Given the description of an element on the screen output the (x, y) to click on. 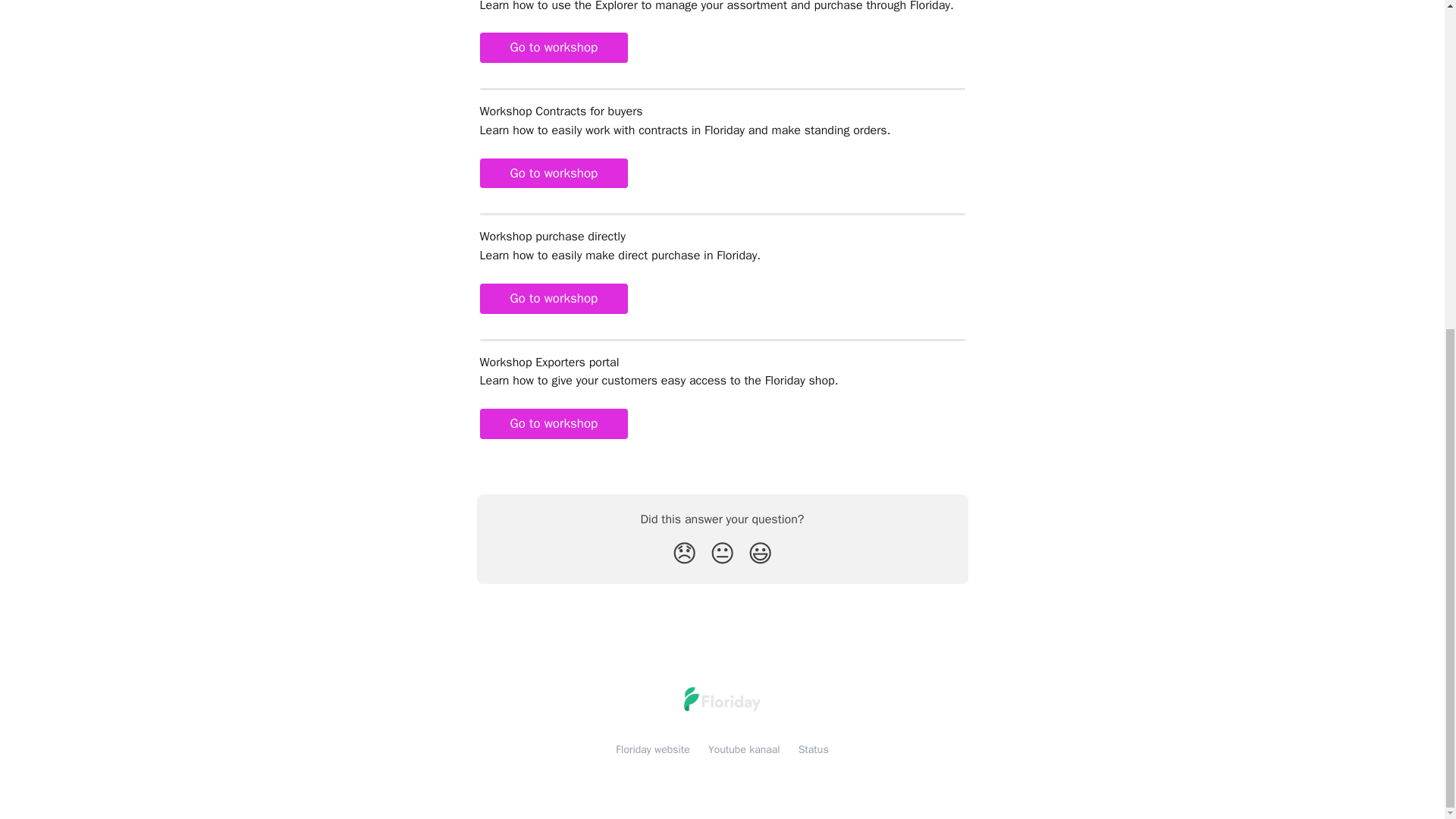
Youtube kanaal (743, 748)
Status (812, 748)
Go to workshop (553, 47)
Go to workshop (553, 298)
Floriday website (652, 748)
Go to workshop (553, 173)
Go to workshop (553, 423)
